Given the description of an element on the screen output the (x, y) to click on. 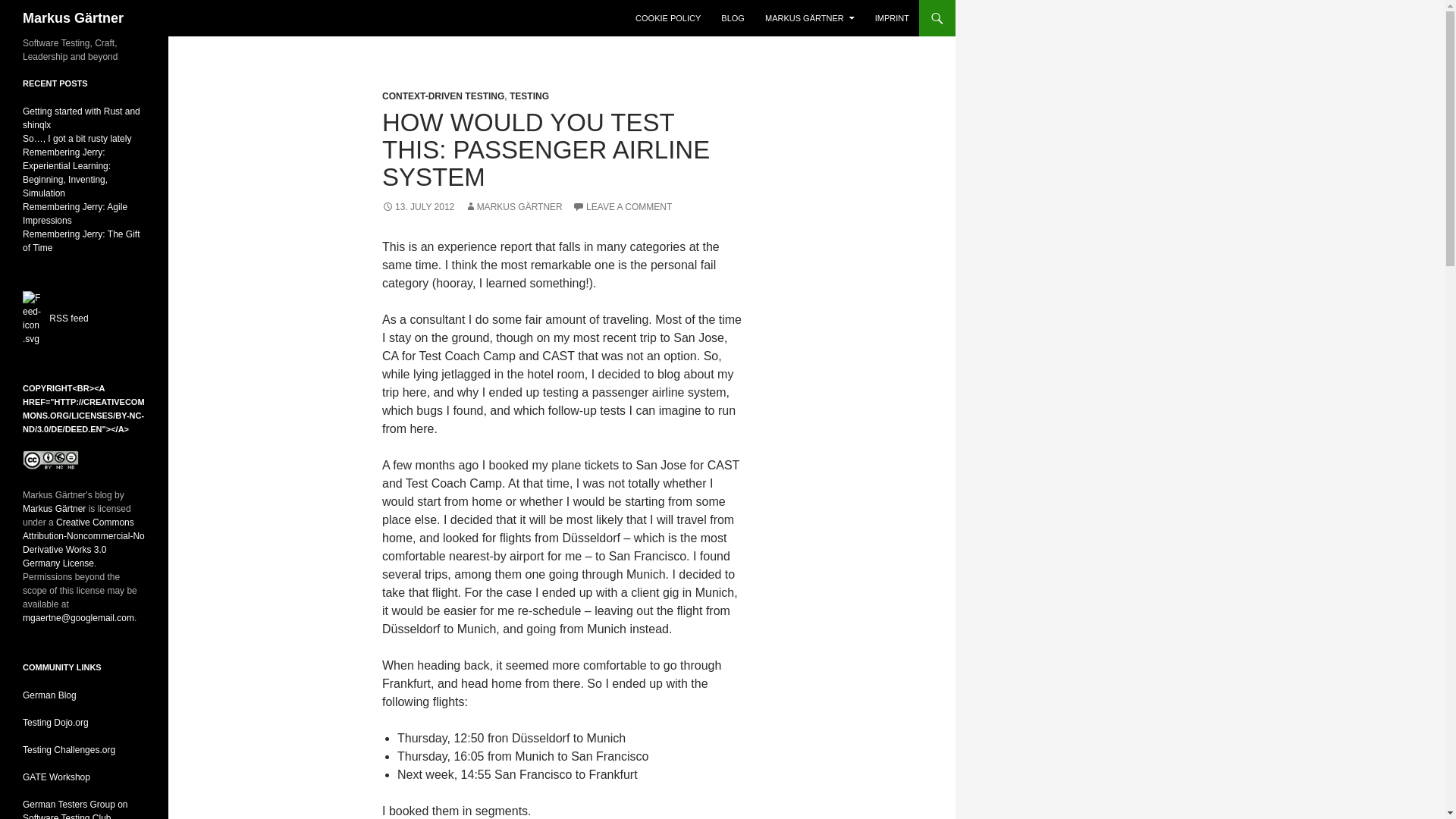
BLOG (732, 18)
Testing Dojo.org (55, 722)
CONTEXT-DRIVEN TESTING (442, 95)
IMPRINT (892, 18)
Getting started with Rust and shinqlx (81, 118)
German Blog (50, 695)
Remembering Jerry: Agile Impressions (75, 213)
13. JULY 2012 (417, 206)
TESTING (528, 95)
LEAVE A COMMENT (621, 206)
